Given the description of an element on the screen output the (x, y) to click on. 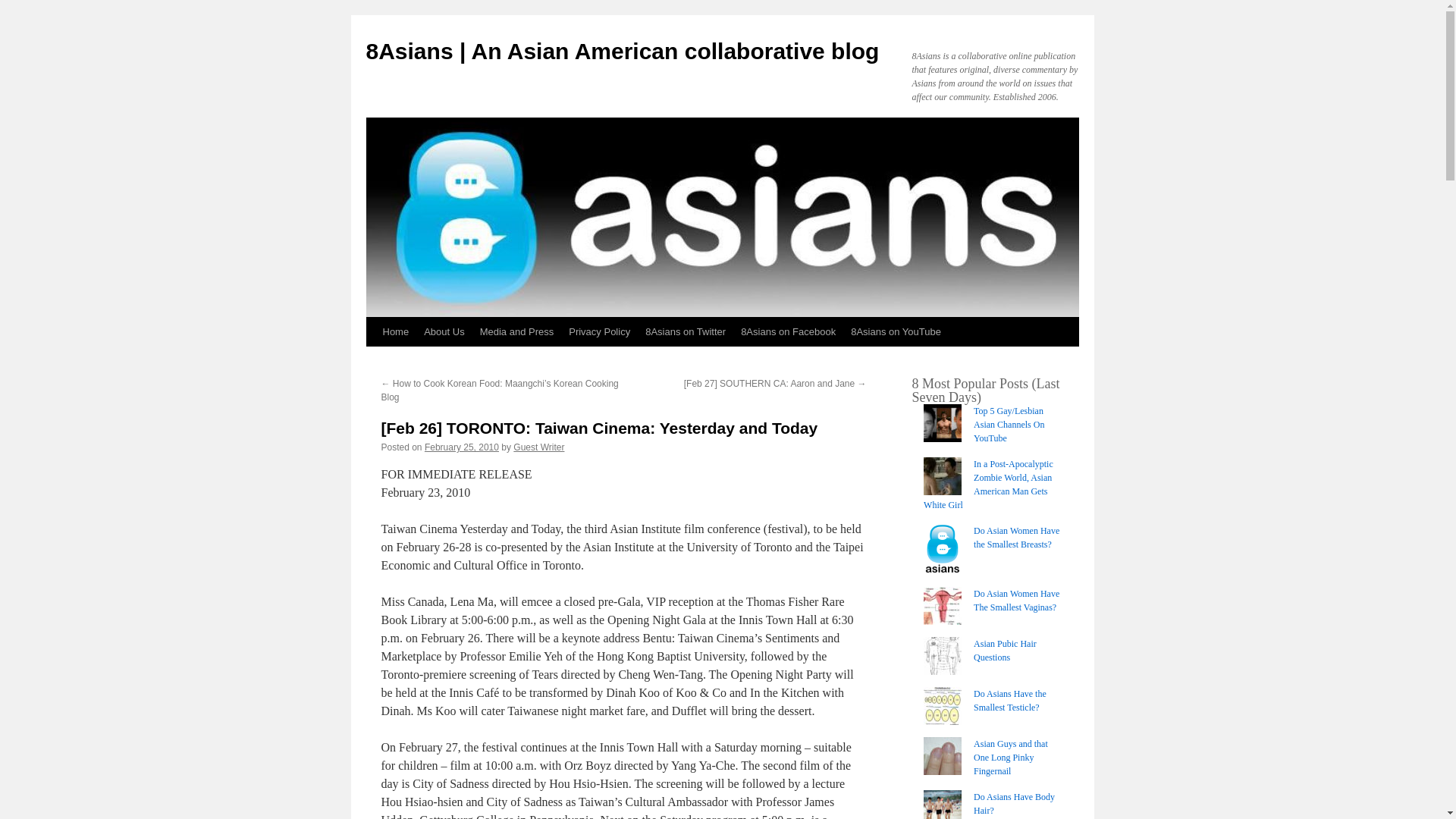
Do Asian Women Have The Smallest Vaginas? (1016, 600)
Media and Press (516, 331)
View all posts by Guest Writer (538, 447)
Do Asian Women Have the Smallest Breasts? (1016, 537)
Home (395, 331)
9:03 am (462, 447)
Do Asians Have the Smallest Testicle? (1010, 700)
Asian Pubic Hair Questions (1005, 650)
Privacy Policy (598, 331)
About Us (443, 331)
8Asians on Facebook (788, 331)
Asian Guys and that One Long Pinky Fingernail (1011, 757)
8Asians on Twitter (685, 331)
February 25, 2010 (462, 447)
